Given the description of an element on the screen output the (x, y) to click on. 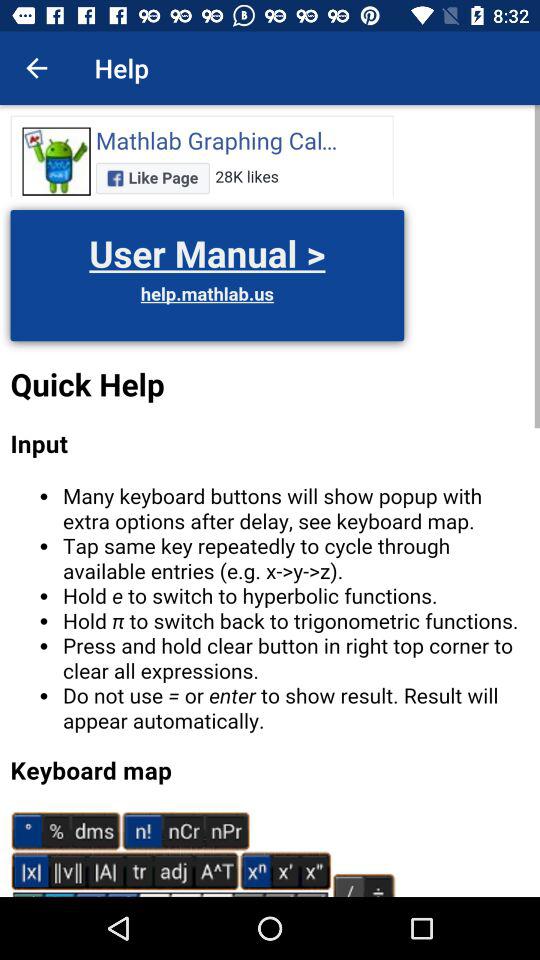
description (270, 501)
